Given the description of an element on the screen output the (x, y) to click on. 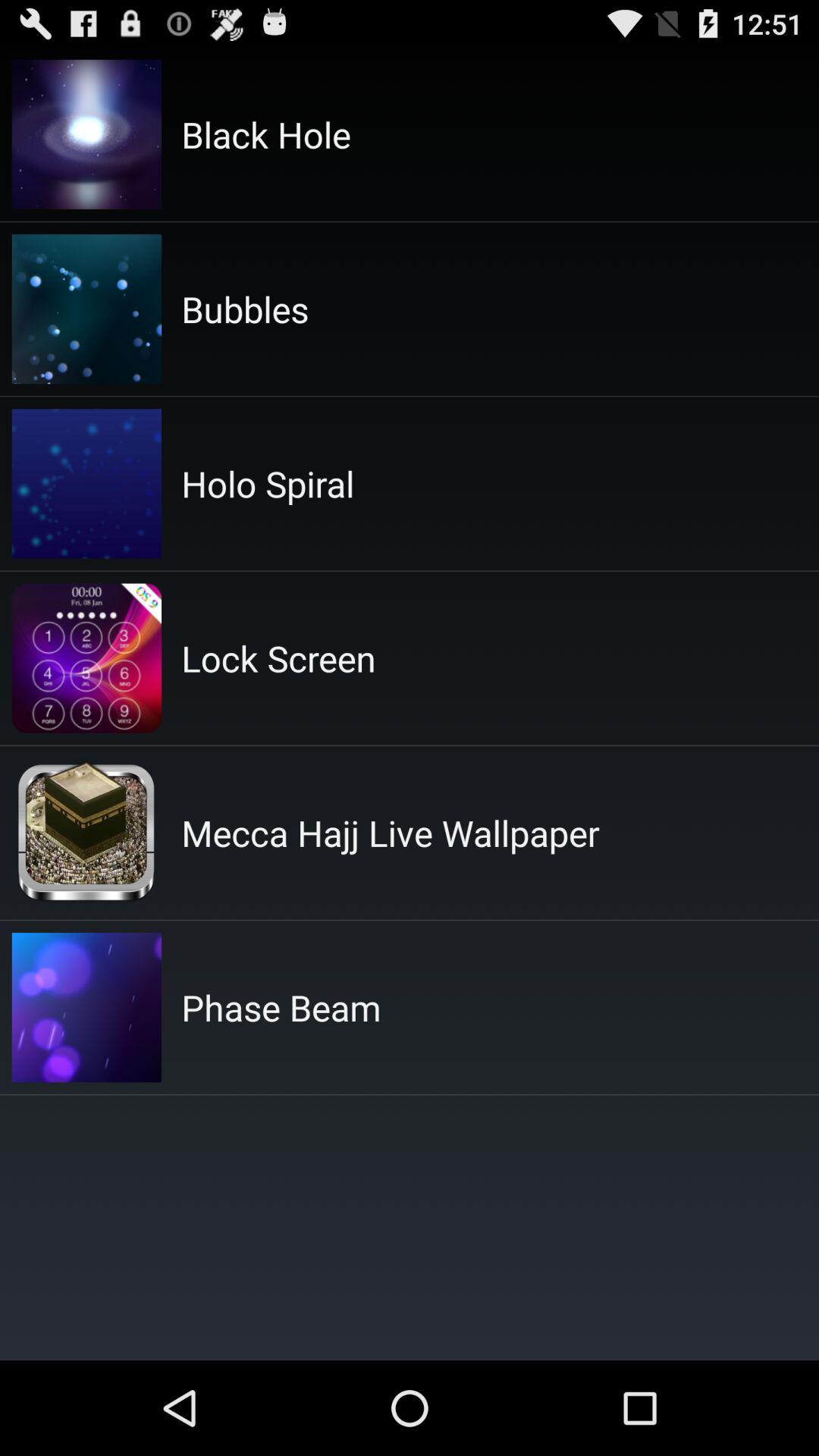
press black hole (265, 134)
